Given the description of an element on the screen output the (x, y) to click on. 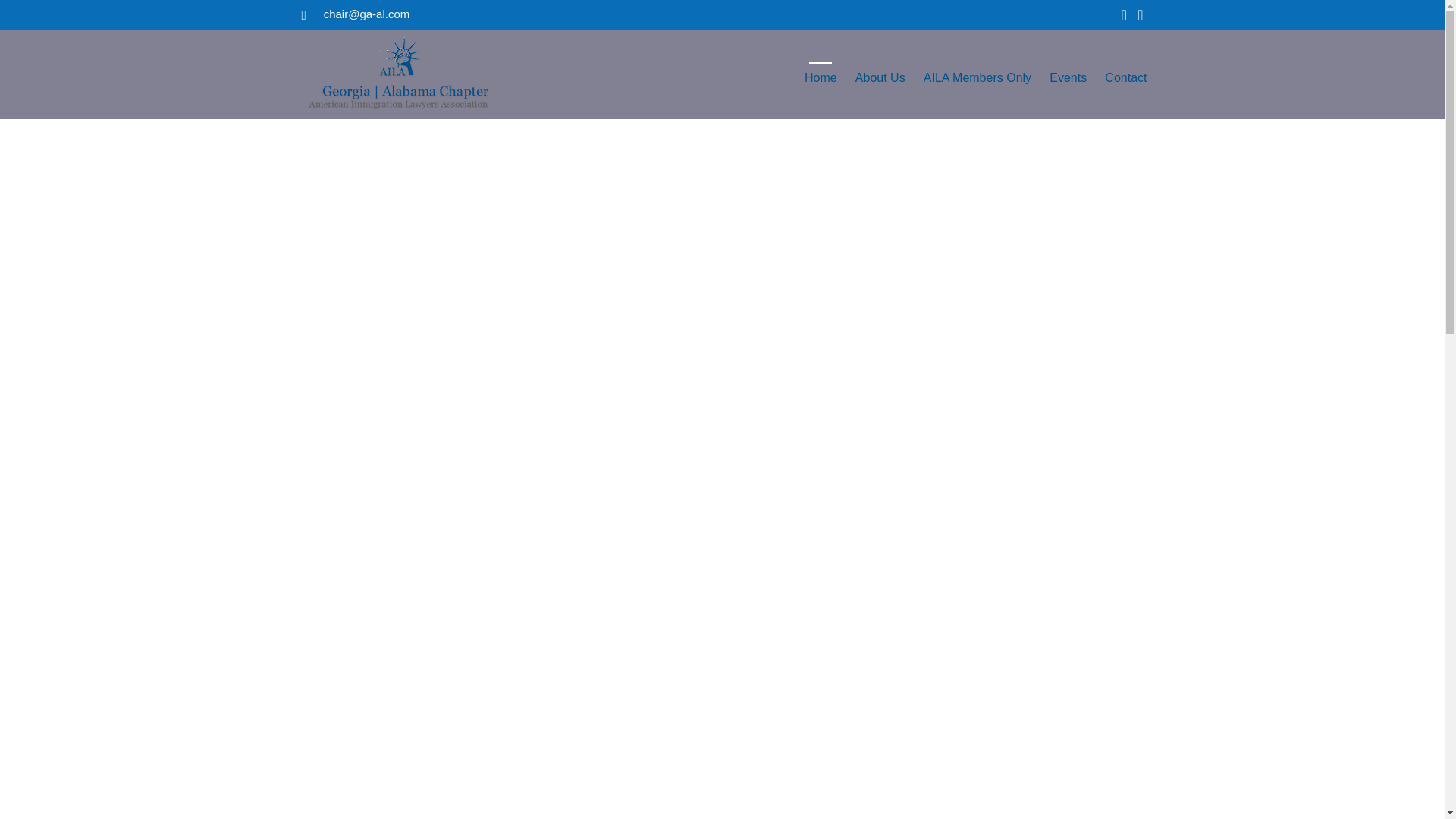
Events (1068, 86)
Contact (1125, 86)
AILA Members Only (977, 86)
About Us (879, 86)
Home (820, 86)
